Given the description of an element on the screen output the (x, y) to click on. 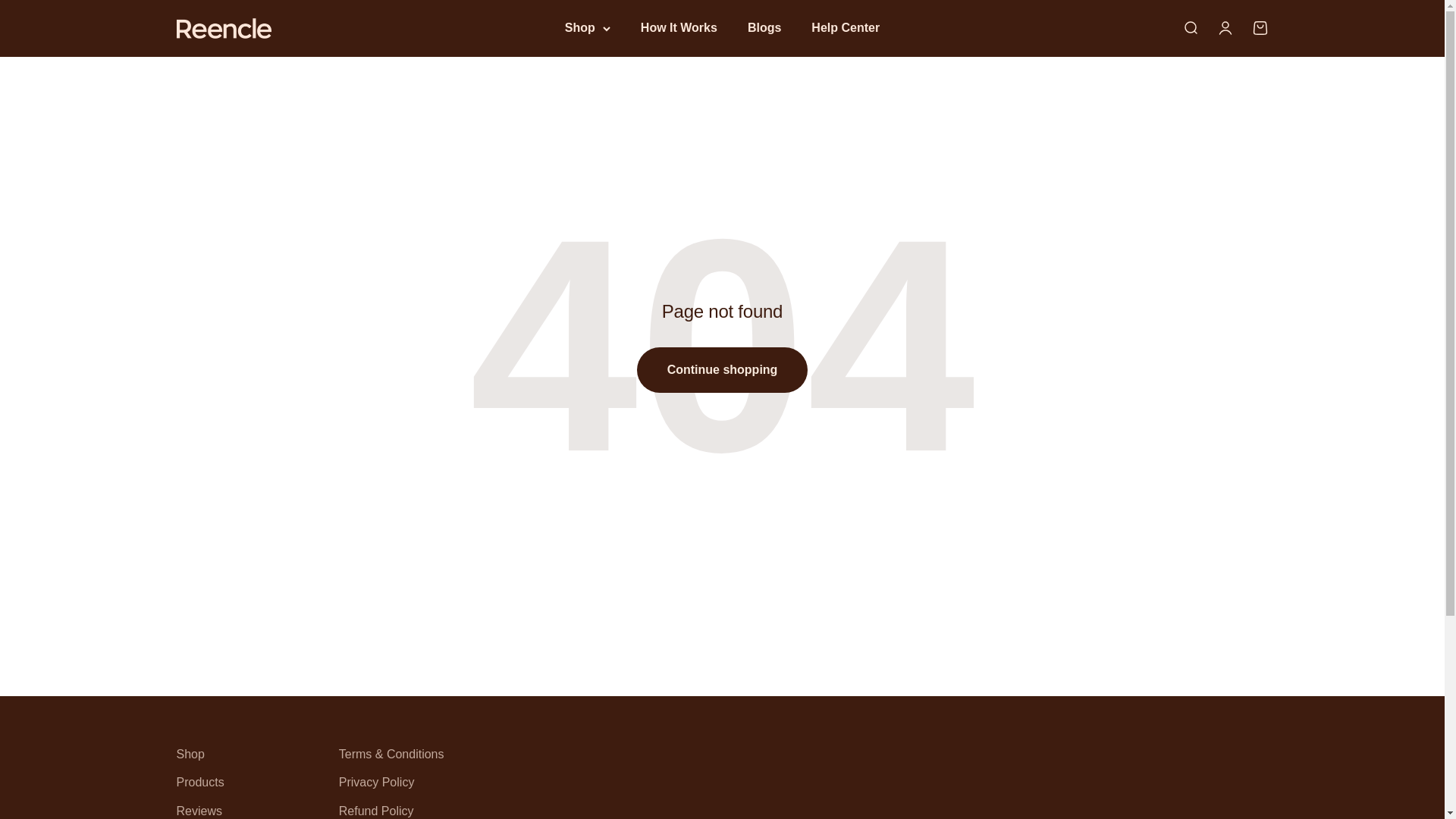
How It Works (1259, 27)
Blogs (678, 27)
Help Center (764, 27)
Open account page (844, 27)
reencle (1224, 27)
Open search (223, 28)
